Given the description of an element on the screen output the (x, y) to click on. 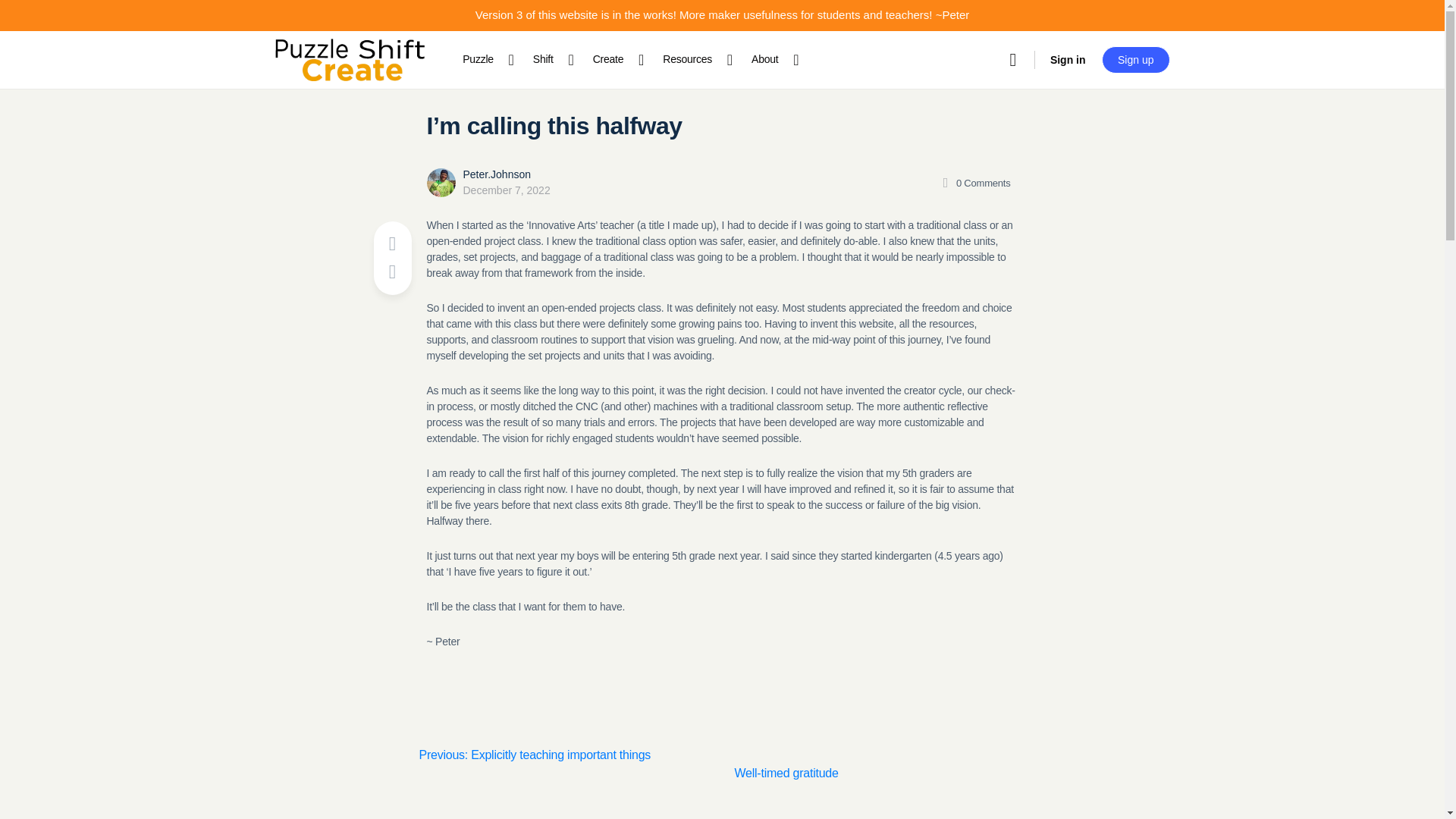
Resources (693, 59)
Sign up (1135, 59)
Puzzle (483, 59)
Sign in (1067, 59)
Create (615, 59)
About (770, 59)
